Given the description of an element on the screen output the (x, y) to click on. 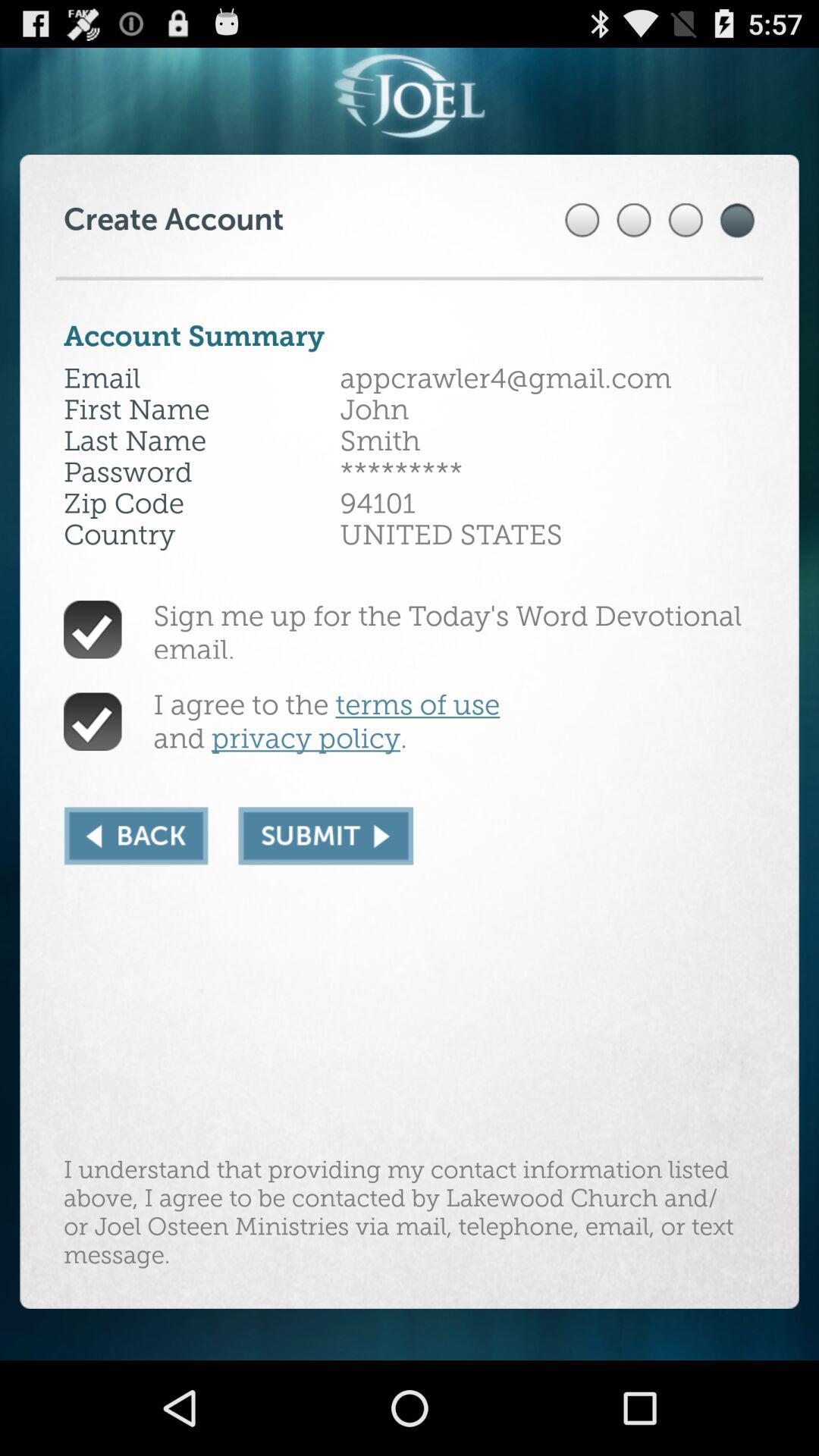
submit information (325, 836)
